Given the description of an element on the screen output the (x, y) to click on. 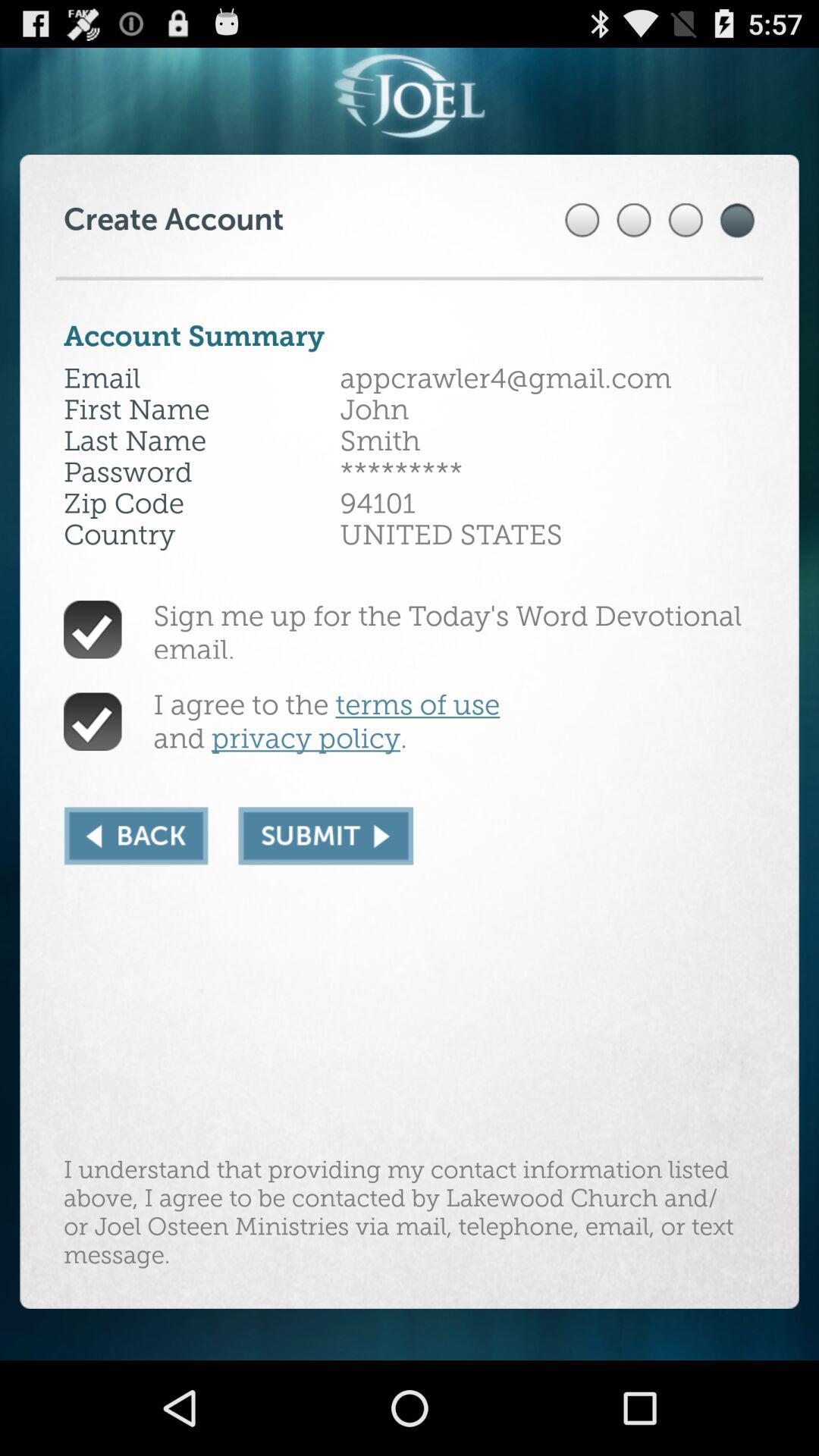
submit information (325, 836)
